Given the description of an element on the screen output the (x, y) to click on. 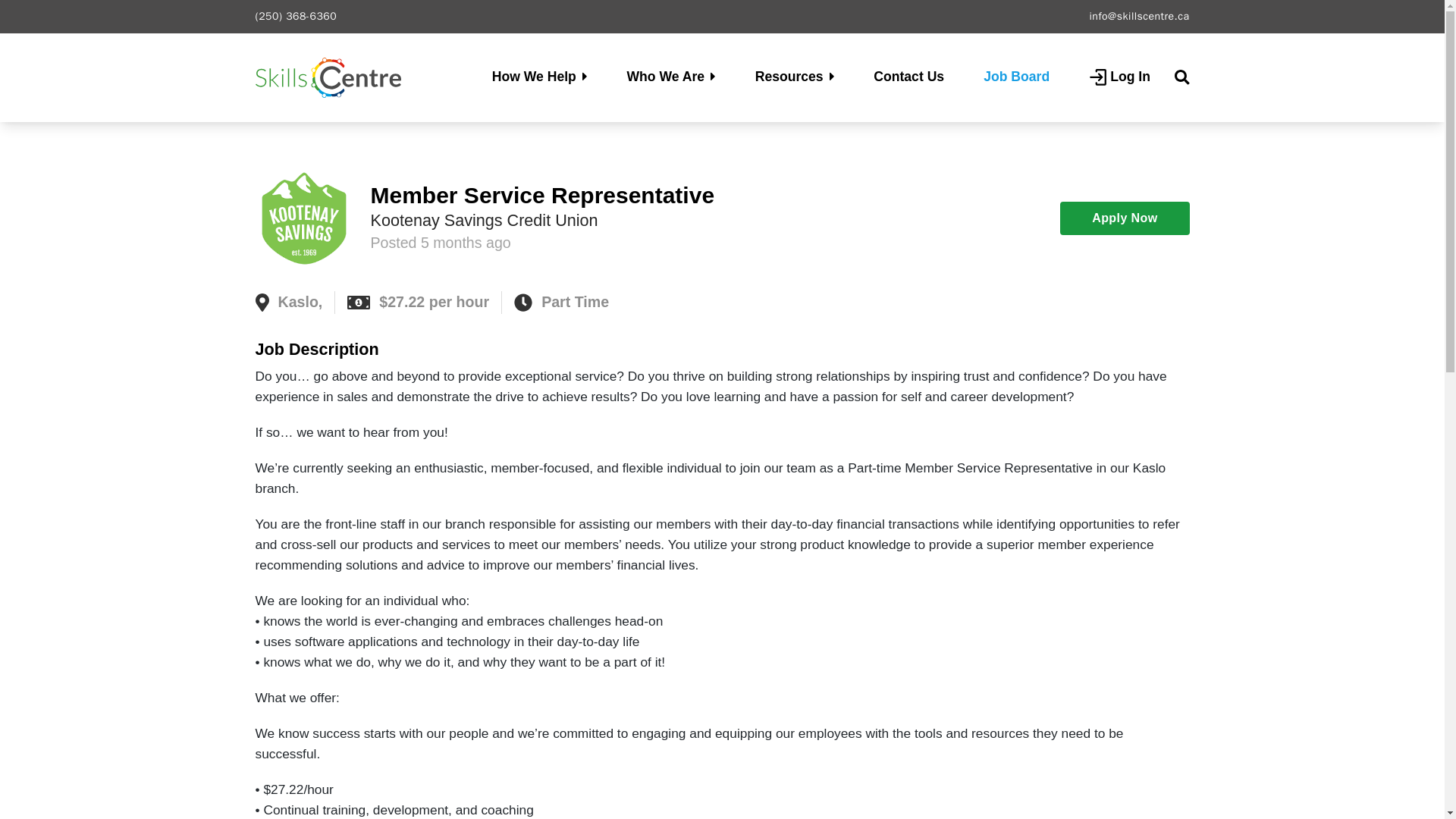
Who We Are (670, 76)
Resources (794, 76)
Log In (1120, 77)
Job Board (1016, 77)
Contact Us (909, 77)
How We Help (539, 76)
